Given the description of an element on the screen output the (x, y) to click on. 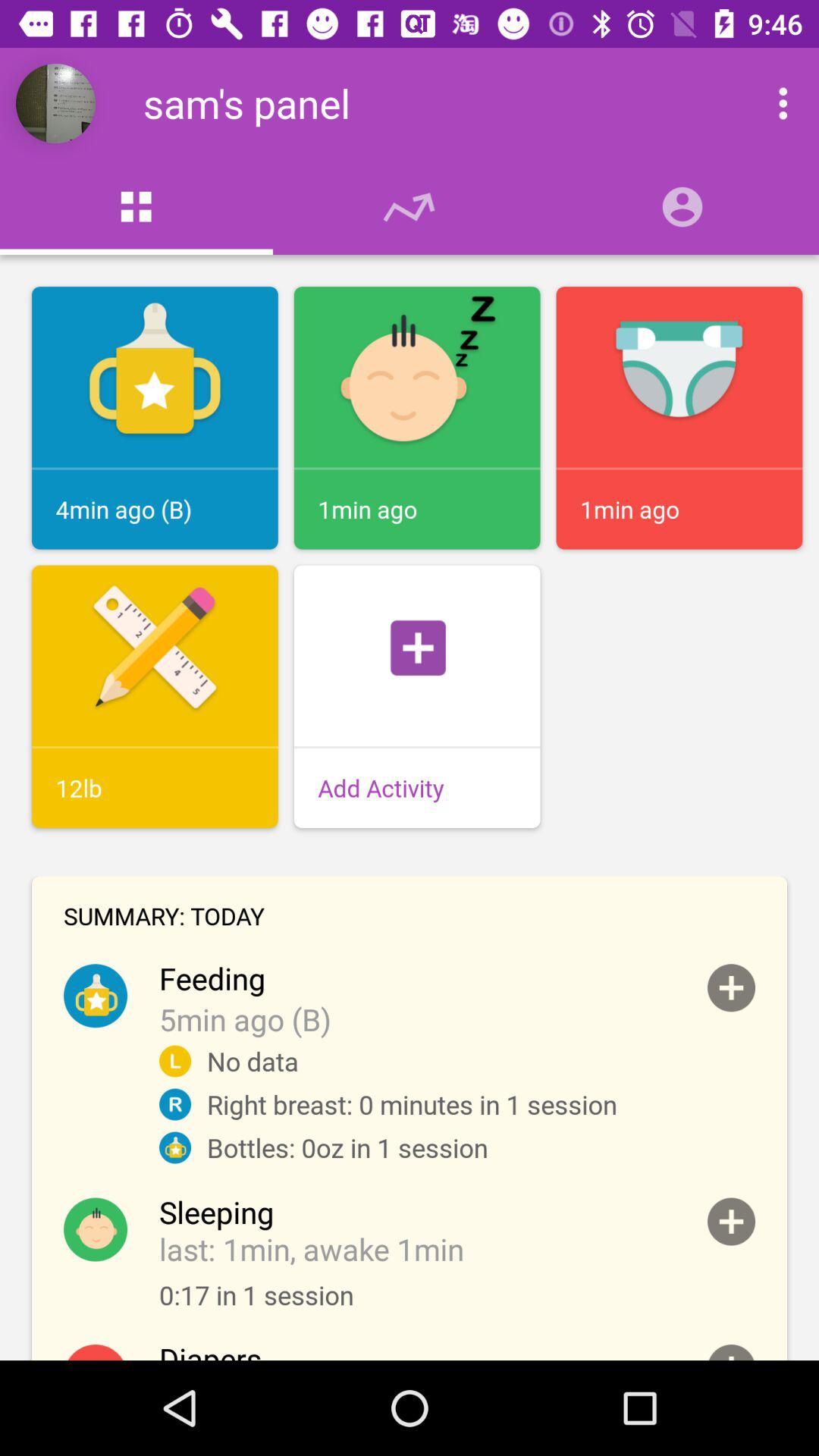
add diaper change (731, 1352)
